Given the description of an element on the screen output the (x, y) to click on. 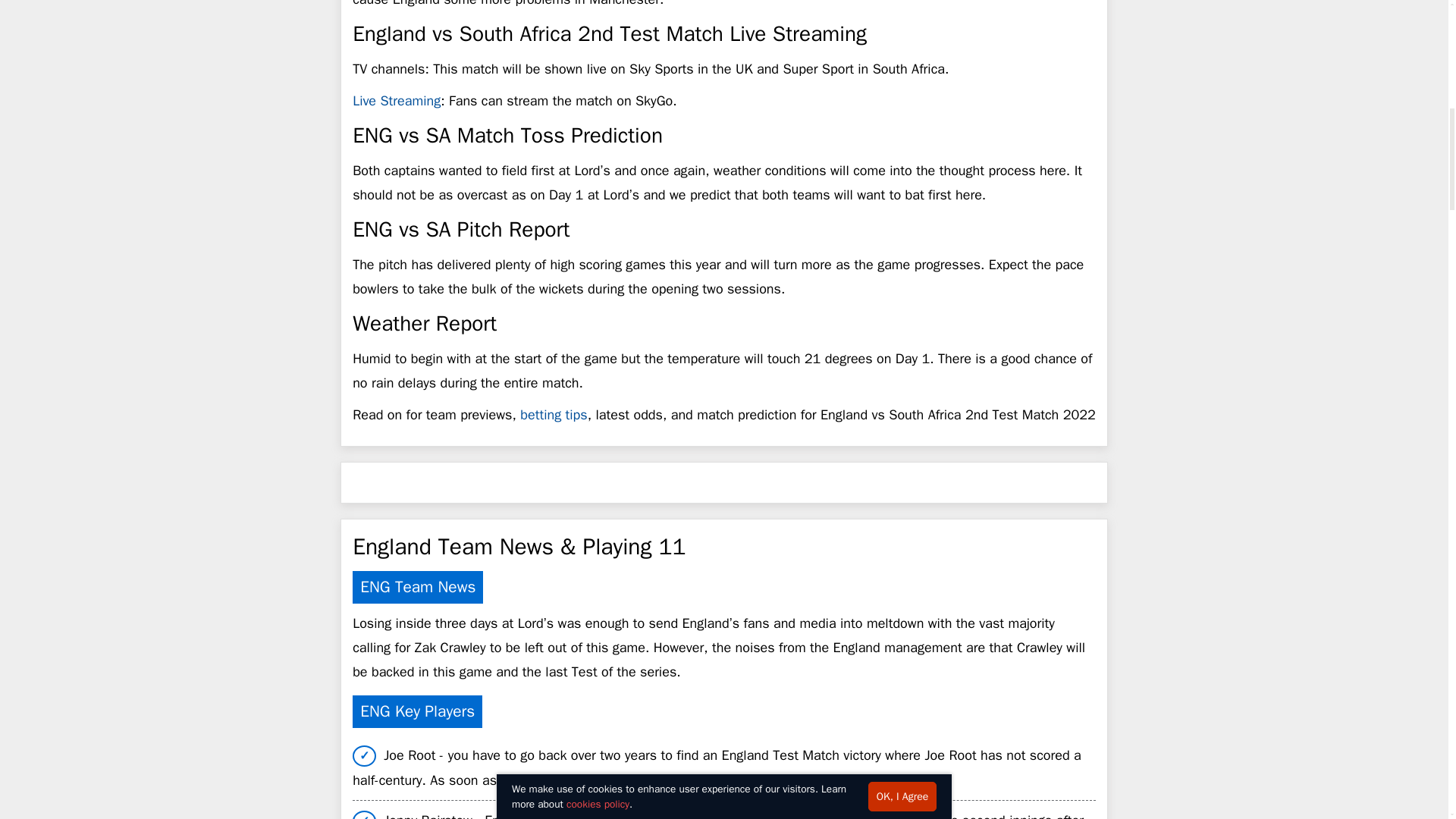
betting tips (552, 414)
Live Streaming (396, 100)
